Given the description of an element on the screen output the (x, y) to click on. 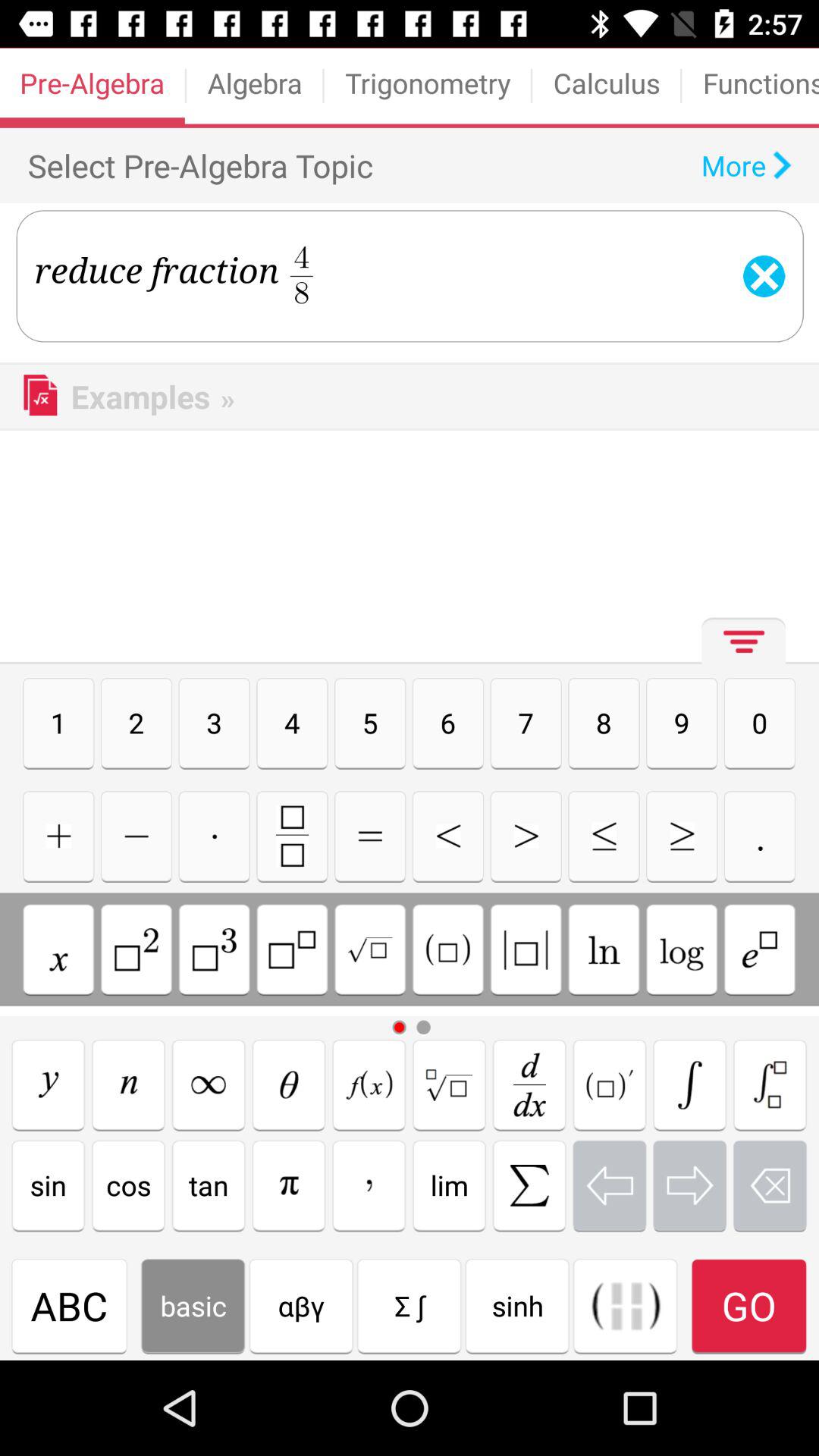
move the cursor to the right (689, 1185)
